Given the description of an element on the screen output the (x, y) to click on. 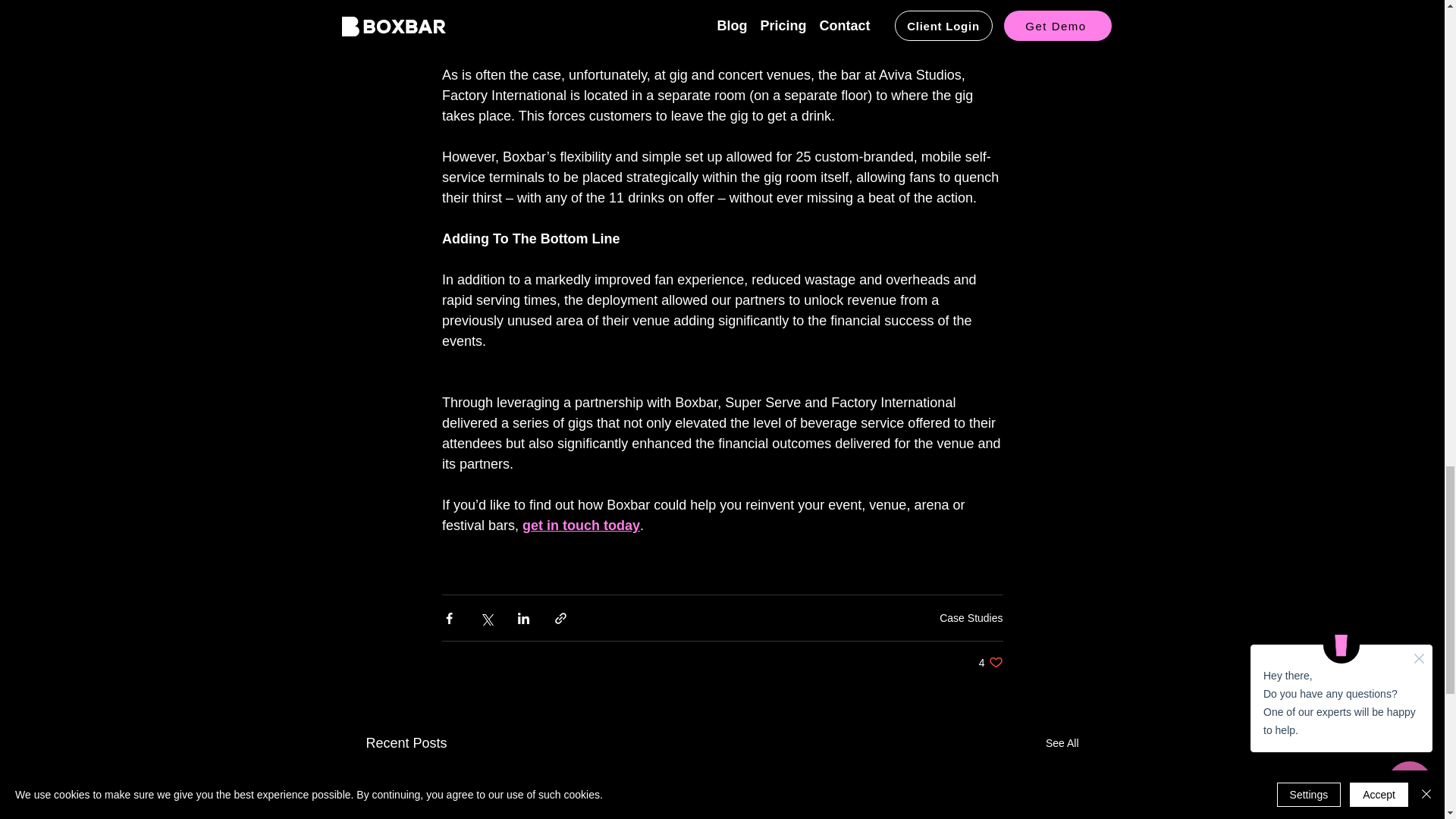
get in touch today (581, 525)
Case Studies (971, 617)
See All (1061, 743)
